Given the description of an element on the screen output the (x, y) to click on. 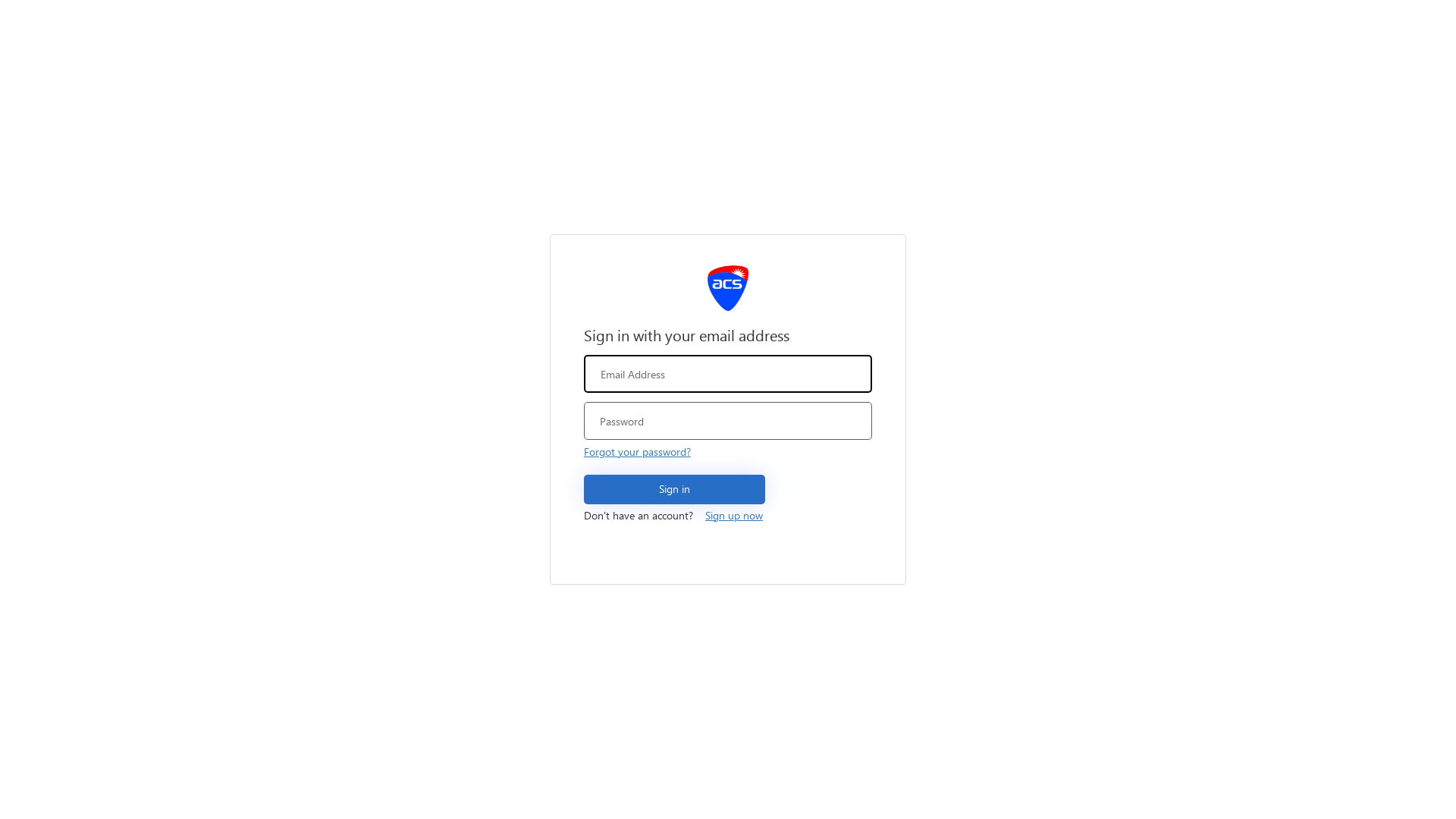
Sign up now Element type: text (734, 515)
Forgot your password? Element type: text (636, 451)
Please enter a valid Email Address Element type: hover (727, 373)
Sign in Element type: text (674, 489)
